Given the description of an element on the screen output the (x, y) to click on. 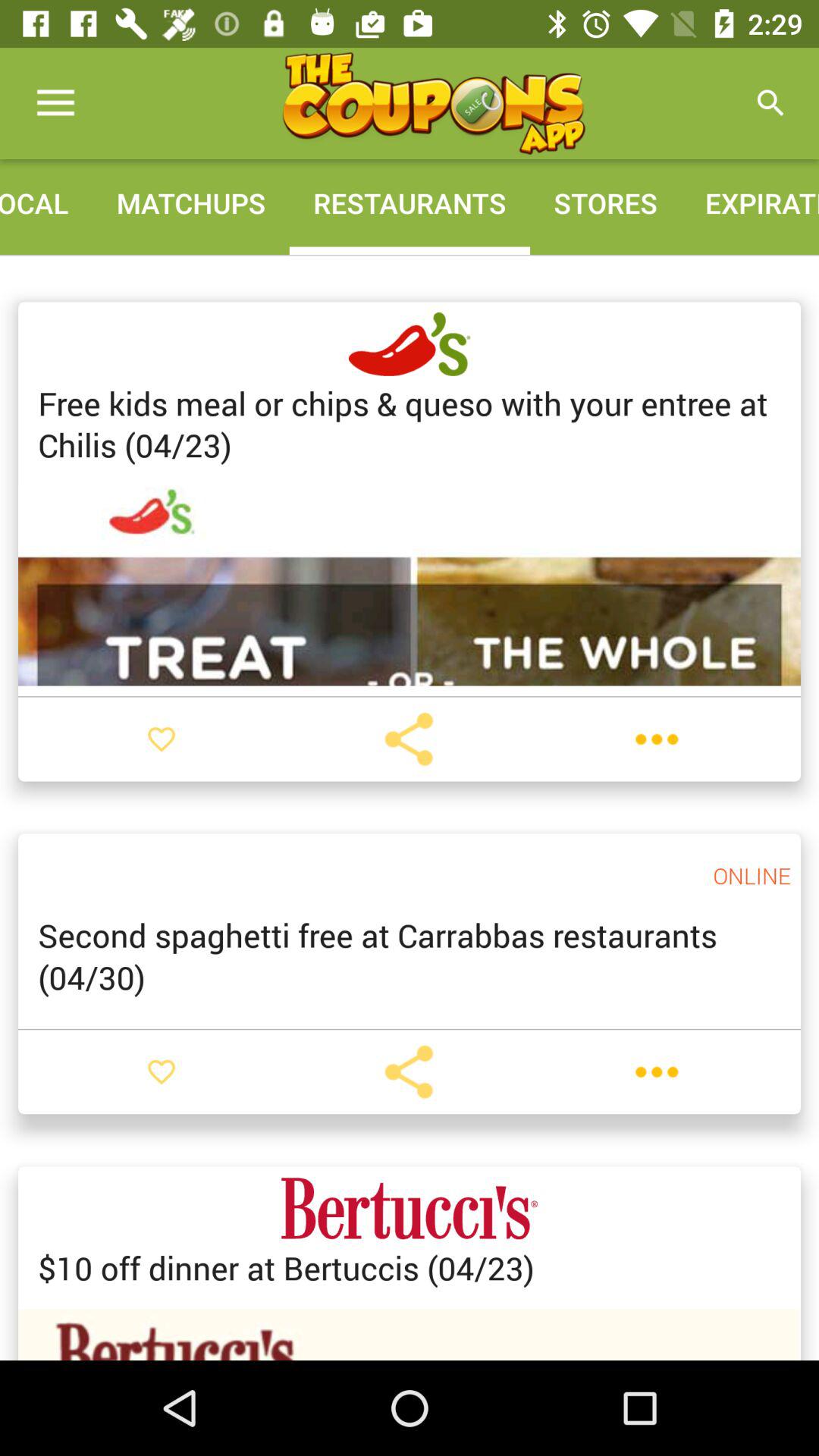
click the second spaghetti free item (409, 955)
